Given the description of an element on the screen output the (x, y) to click on. 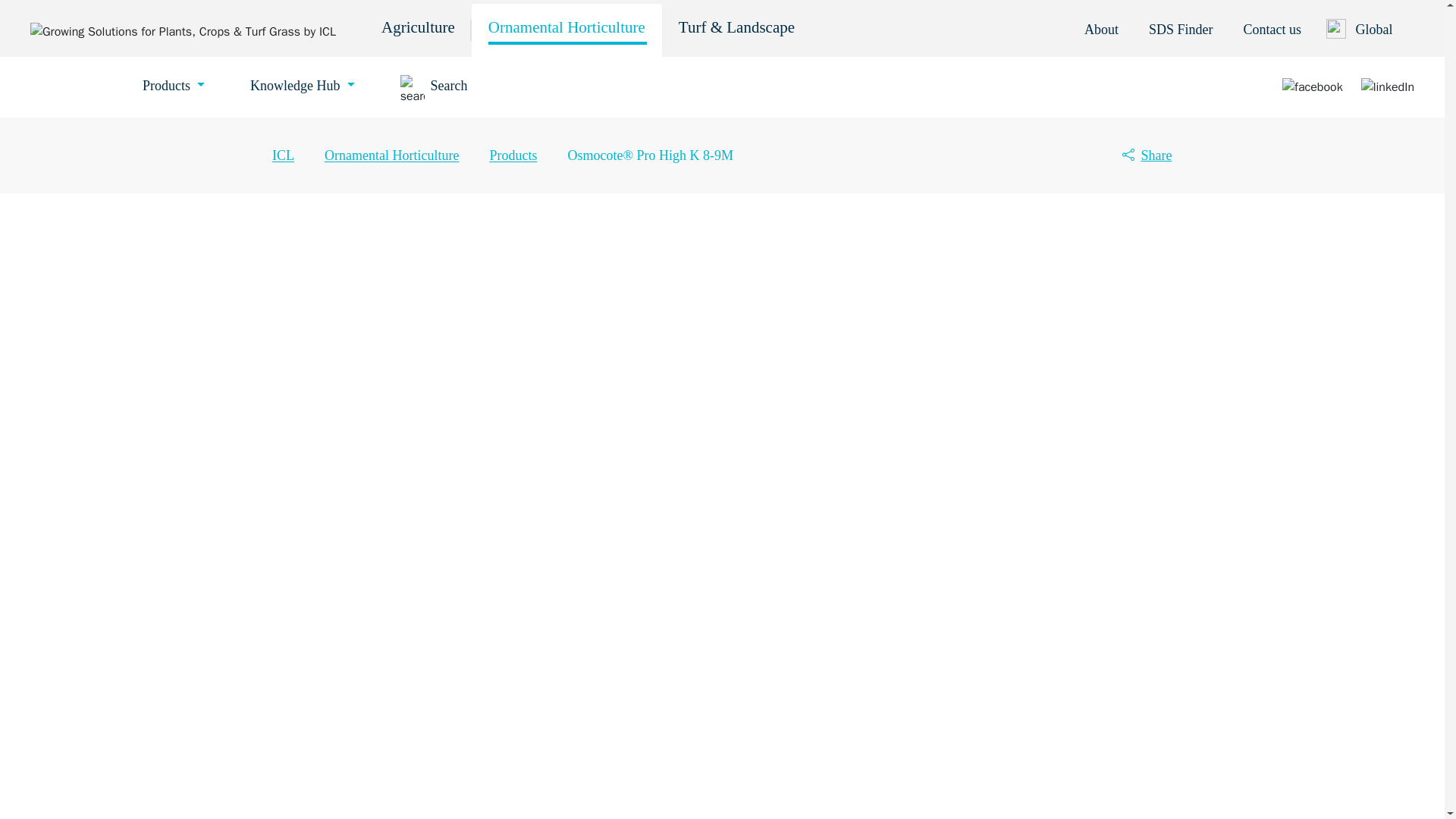
SDS Finder (1180, 29)
Ornamental Horticulture (566, 30)
Agriculture (418, 30)
Contact us (1272, 29)
About (1101, 29)
Global (1372, 29)
